Given the description of an element on the screen output the (x, y) to click on. 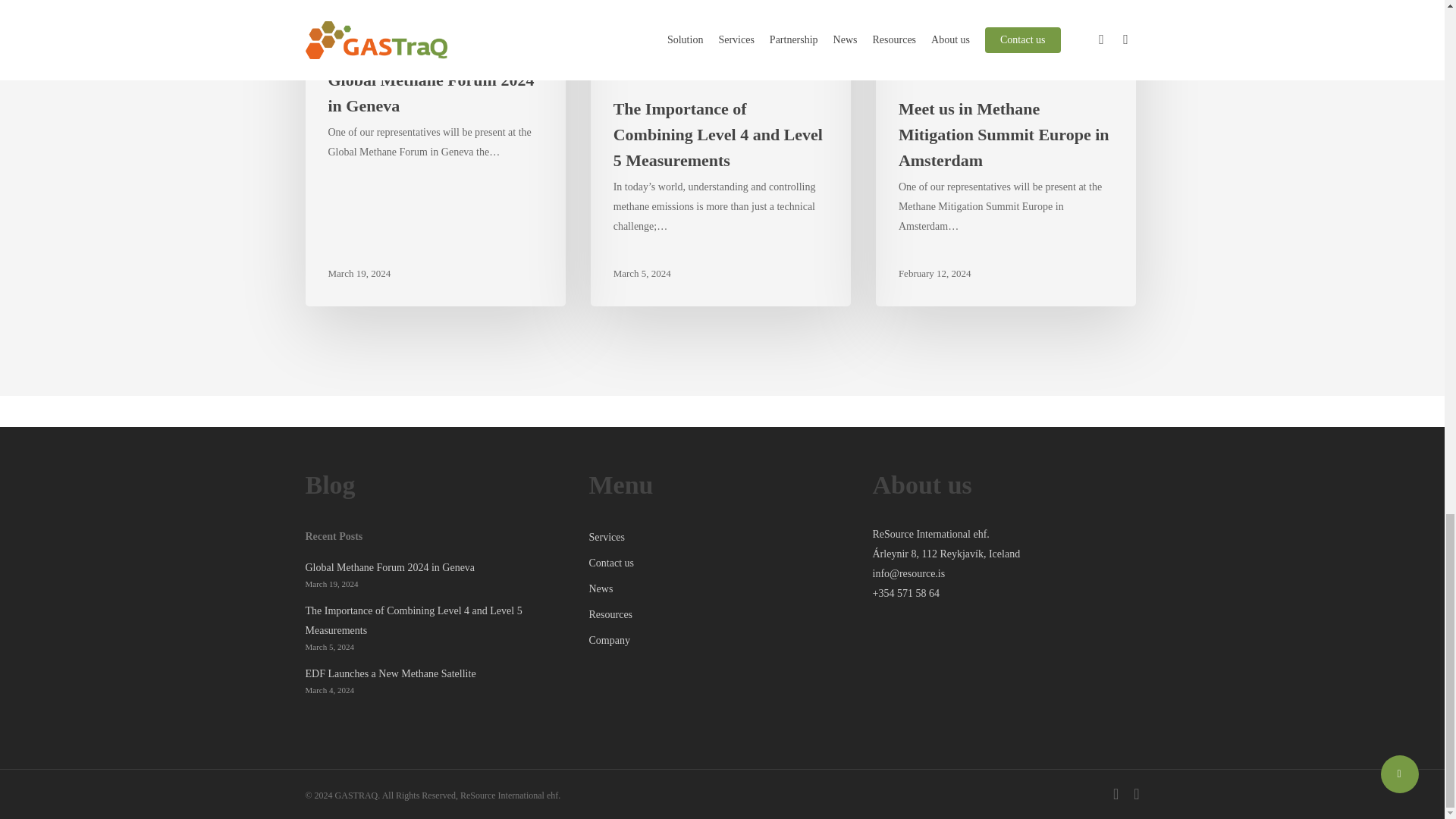
News (624, 73)
Events (342, 44)
News (378, 44)
News (948, 73)
EDF Launches a New Methane Satellite (438, 673)
The Importance of Combining Level 4 and Level 5 Measurements (438, 619)
Global Methane Forum 2024 in Geneva (438, 567)
Events (913, 73)
